Given the description of an element on the screen output the (x, y) to click on. 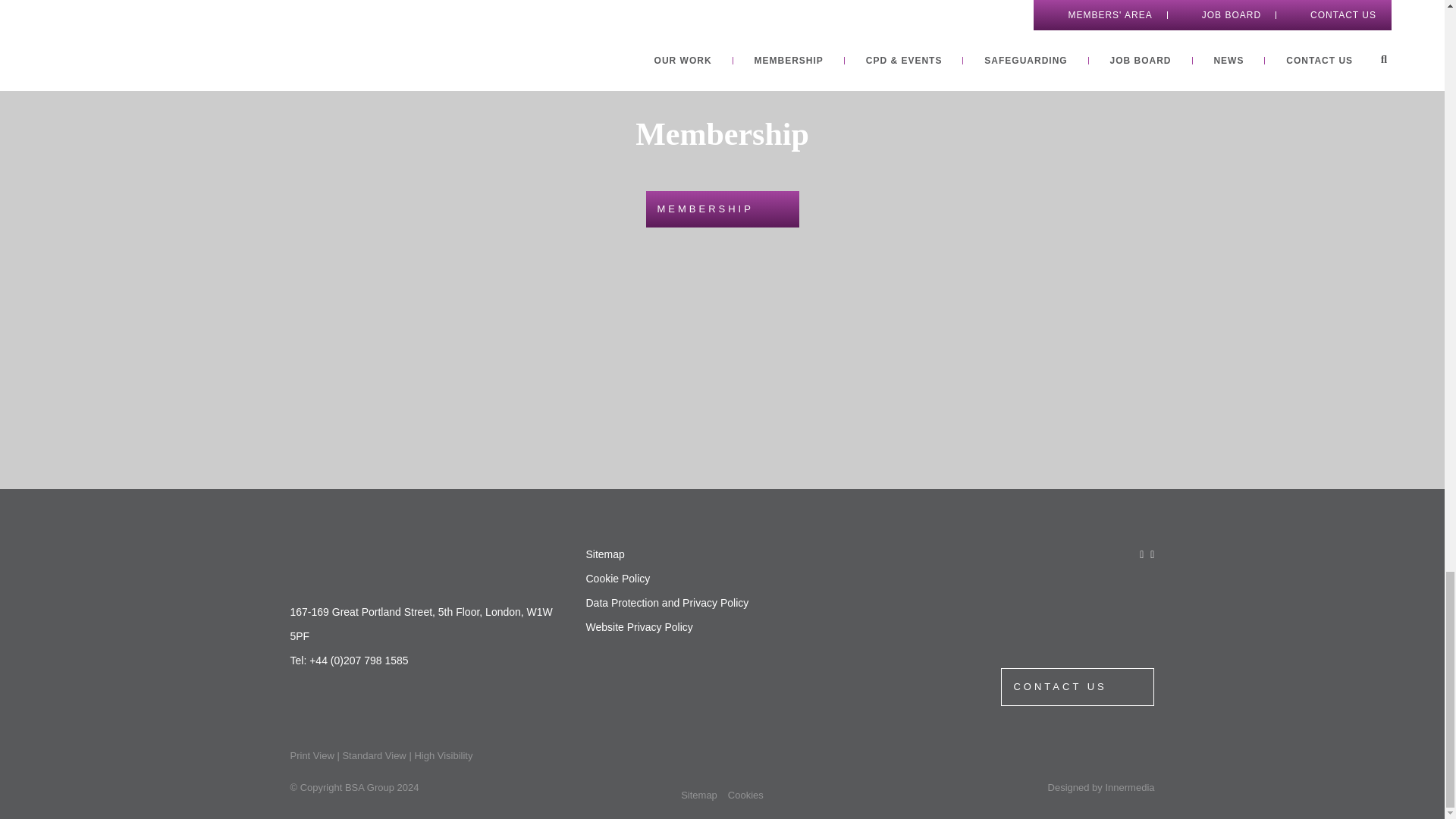
Switch to Standard Visibility (374, 755)
Switch to Print (311, 755)
Switch to High Visibility (442, 755)
